Given the description of an element on the screen output the (x, y) to click on. 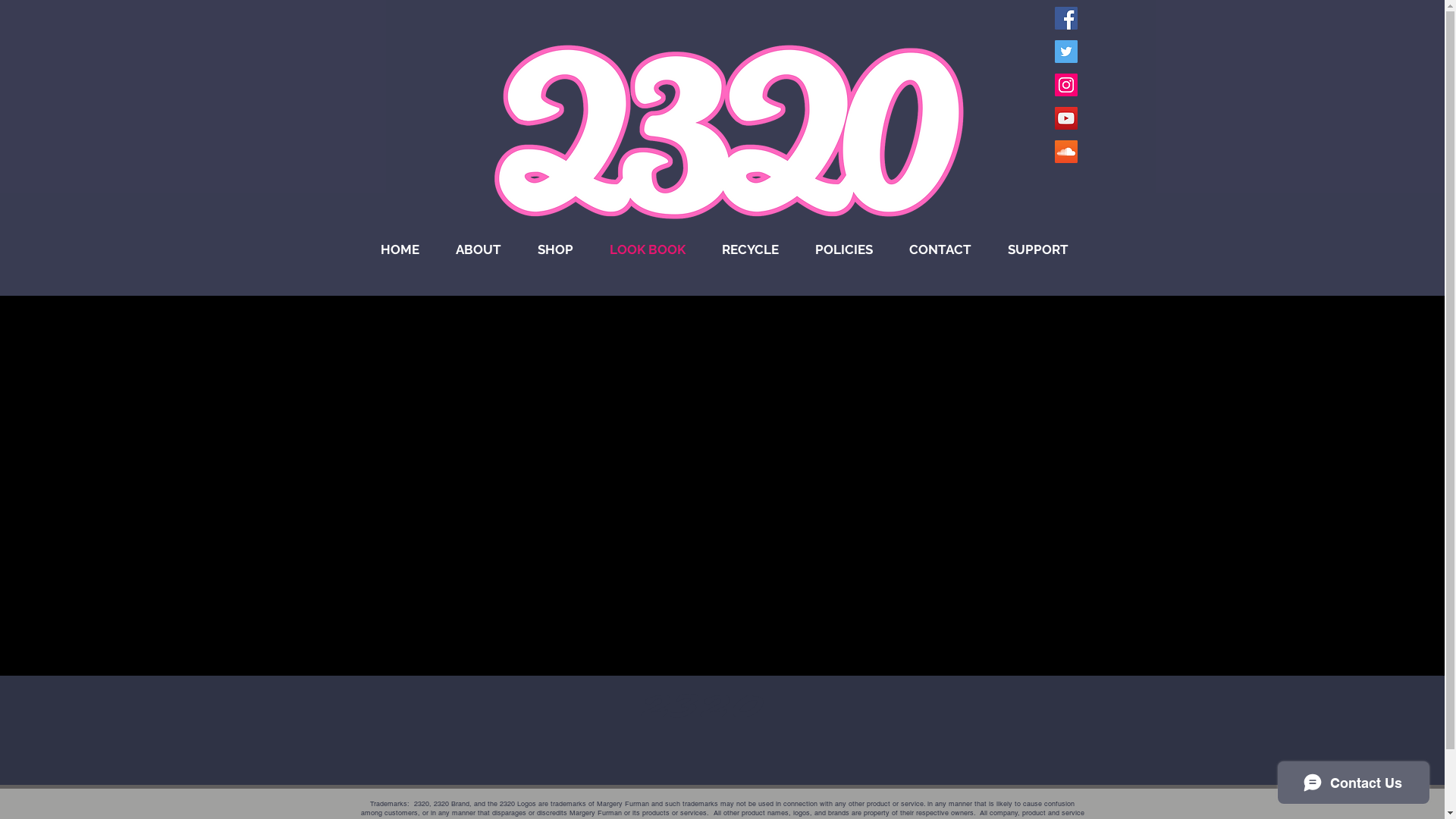
Instagram Feeds Element type: hover (734, 460)
HOME Element type: text (399, 249)
ABOUT Element type: text (477, 249)
SUPPORT Element type: text (1036, 249)
POLICIES Element type: text (843, 249)
CONTACT Element type: text (939, 249)
RECYCLE Element type: text (750, 249)
SHOP Element type: text (554, 249)
LOOK BOOK Element type: text (647, 249)
